Given the description of an element on the screen output the (x, y) to click on. 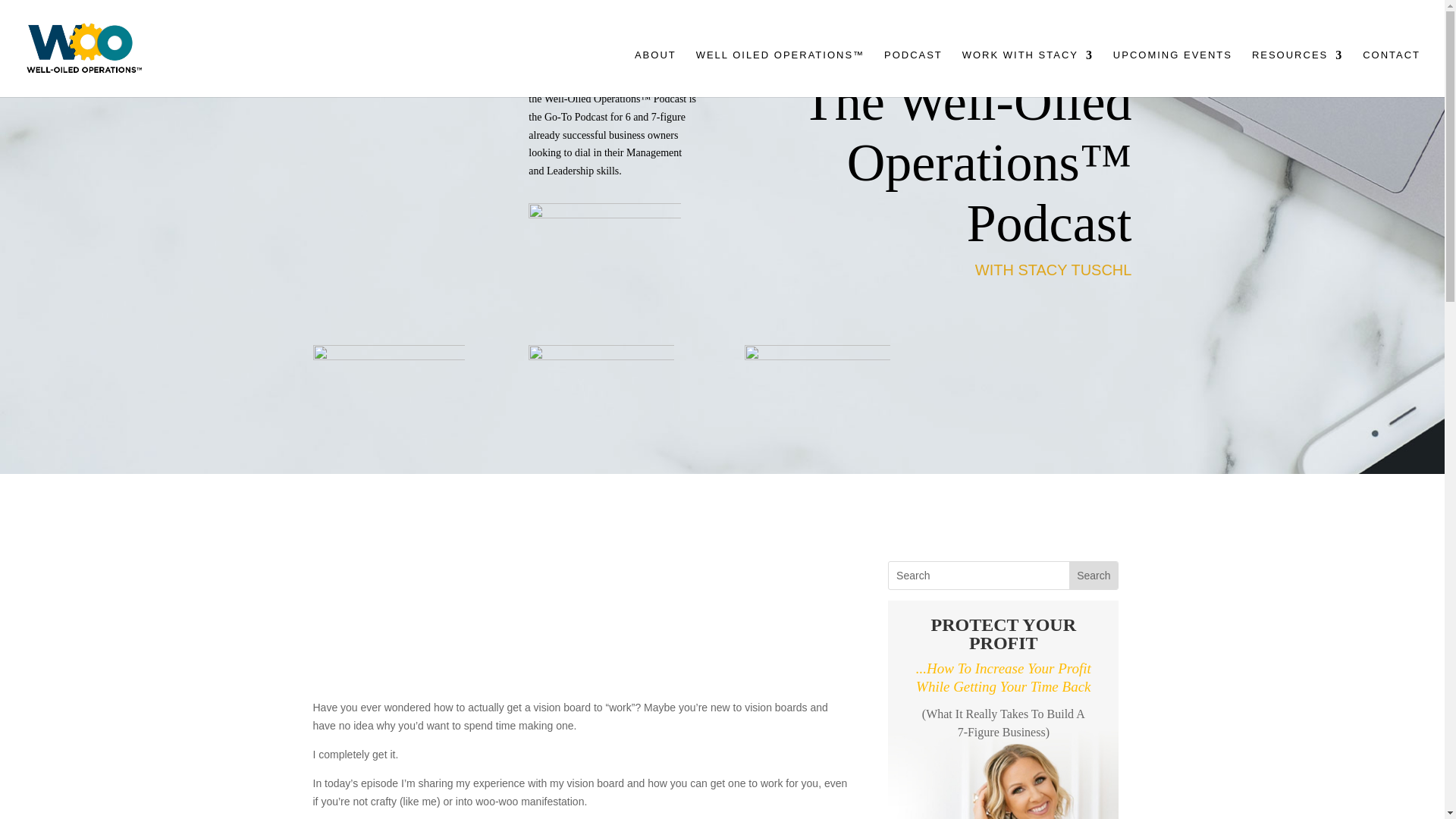
Search (1093, 574)
CONTACT (1391, 67)
Search (1093, 574)
ABOUT (655, 67)
WORK WITH STACY (1027, 67)
Search (1093, 574)
UPCOMING EVENTS (1172, 67)
RESOURCES (1297, 67)
PODCAST (912, 67)
